Given the description of an element on the screen output the (x, y) to click on. 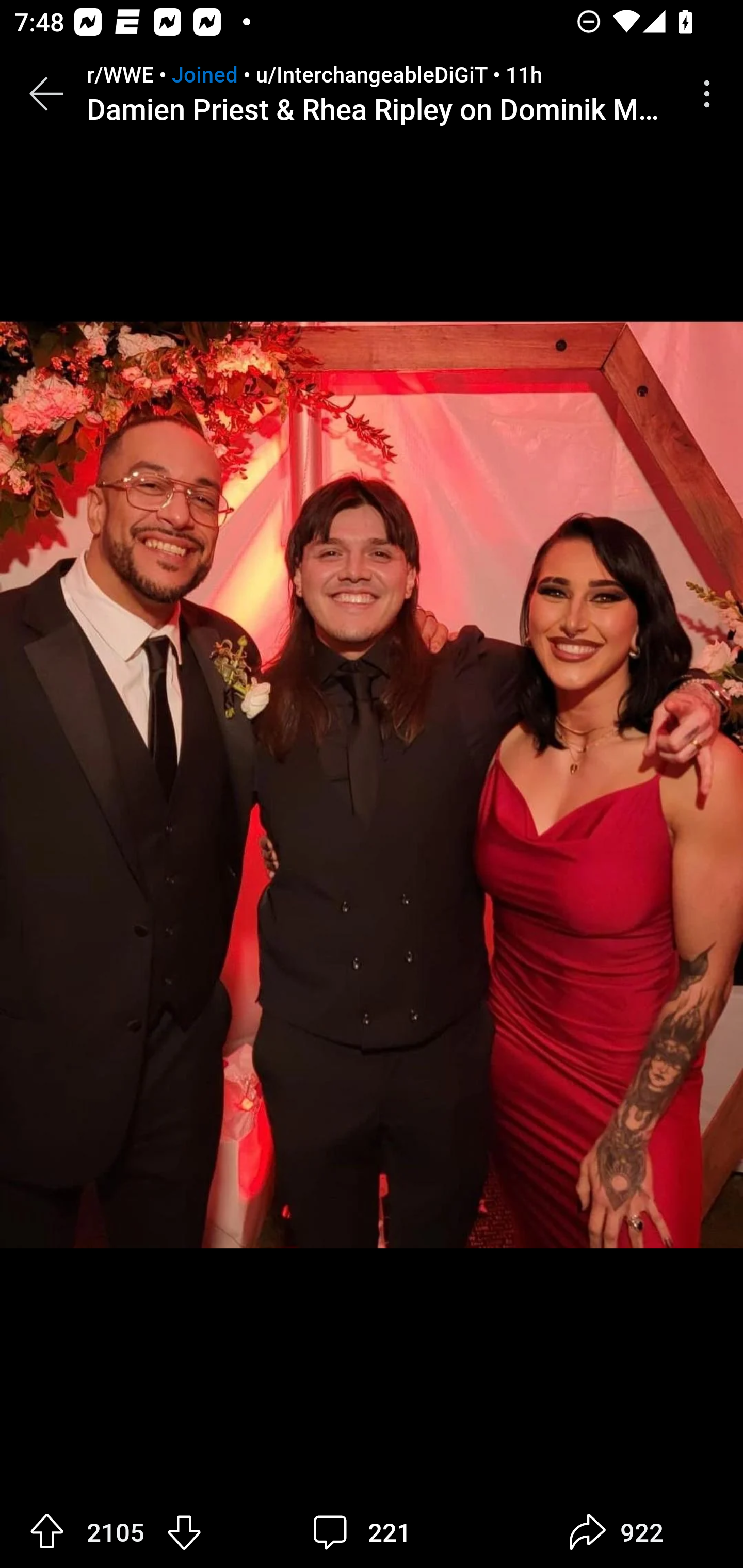
Back (46, 93)
More options (710, 93)
221 comments 221 (367, 1531)
922 (616, 1531)
Upvote (46, 1531)
Downvote (184, 1531)
